Given the description of an element on the screen output the (x, y) to click on. 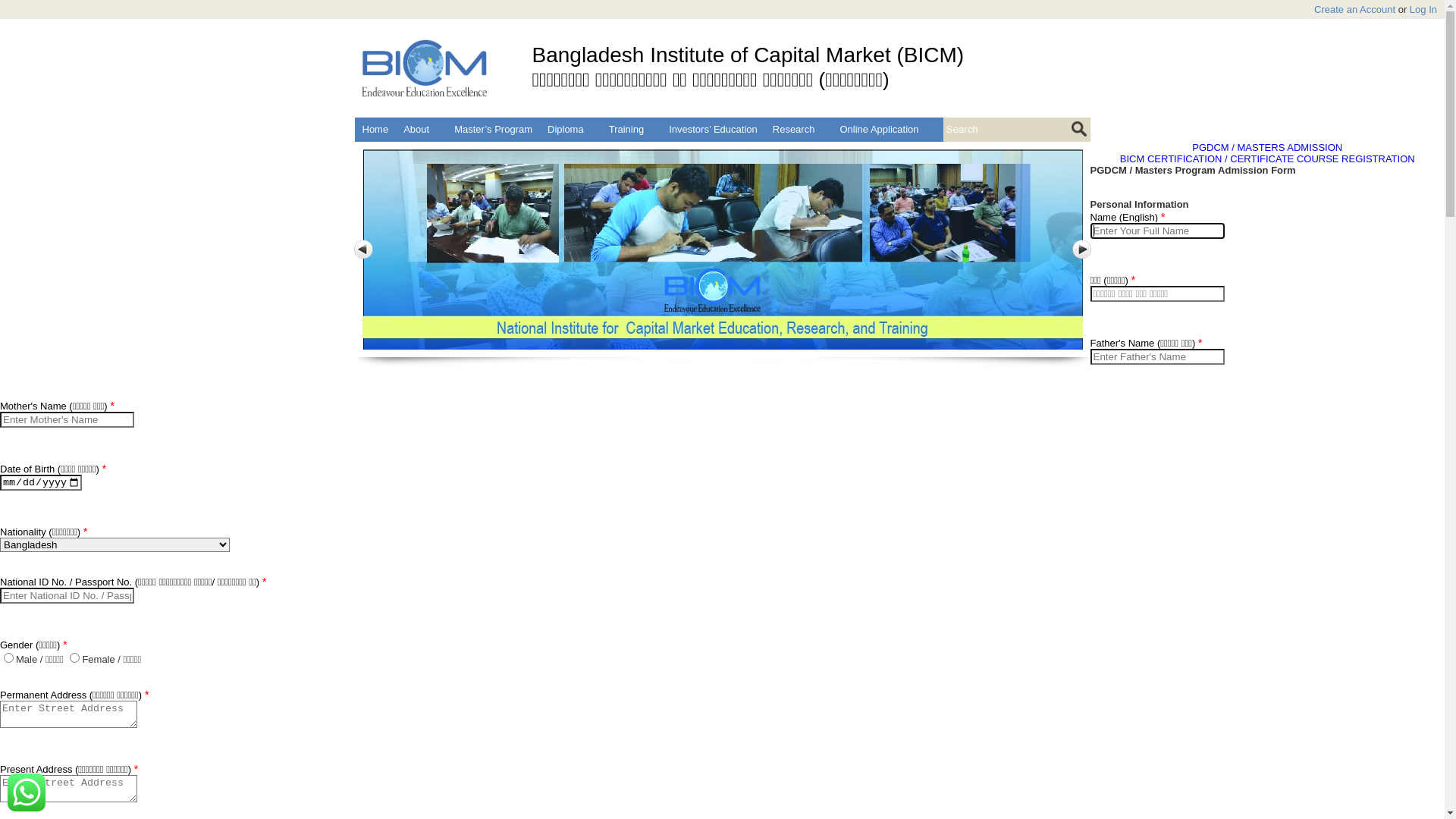
Training Element type: text (631, 129)
BICM CERTIFICATION / CERTIFICATE COURSE REGISTRATION Element type: text (1267, 158)
Search Element type: text (1079, 129)
Online Application Element type: text (878, 129)
About Element type: text (420, 129)
BCMCDC Element type: text (561, 153)
PGDCM / MASTERS ADMISSION Element type: text (1267, 147)
Diploma Element type: text (570, 129)
Home Element type: text (375, 129)
Elementor #10140 Element type: text (484, 153)
kafi test Element type: text (411, 153)
Log In Element type: text (1423, 9)
Test Element type: text (371, 153)
Database List Element type: text (628, 153)
Create an Account Element type: text (1354, 9)
Research Element type: text (798, 129)
